Given the description of an element on the screen output the (x, y) to click on. 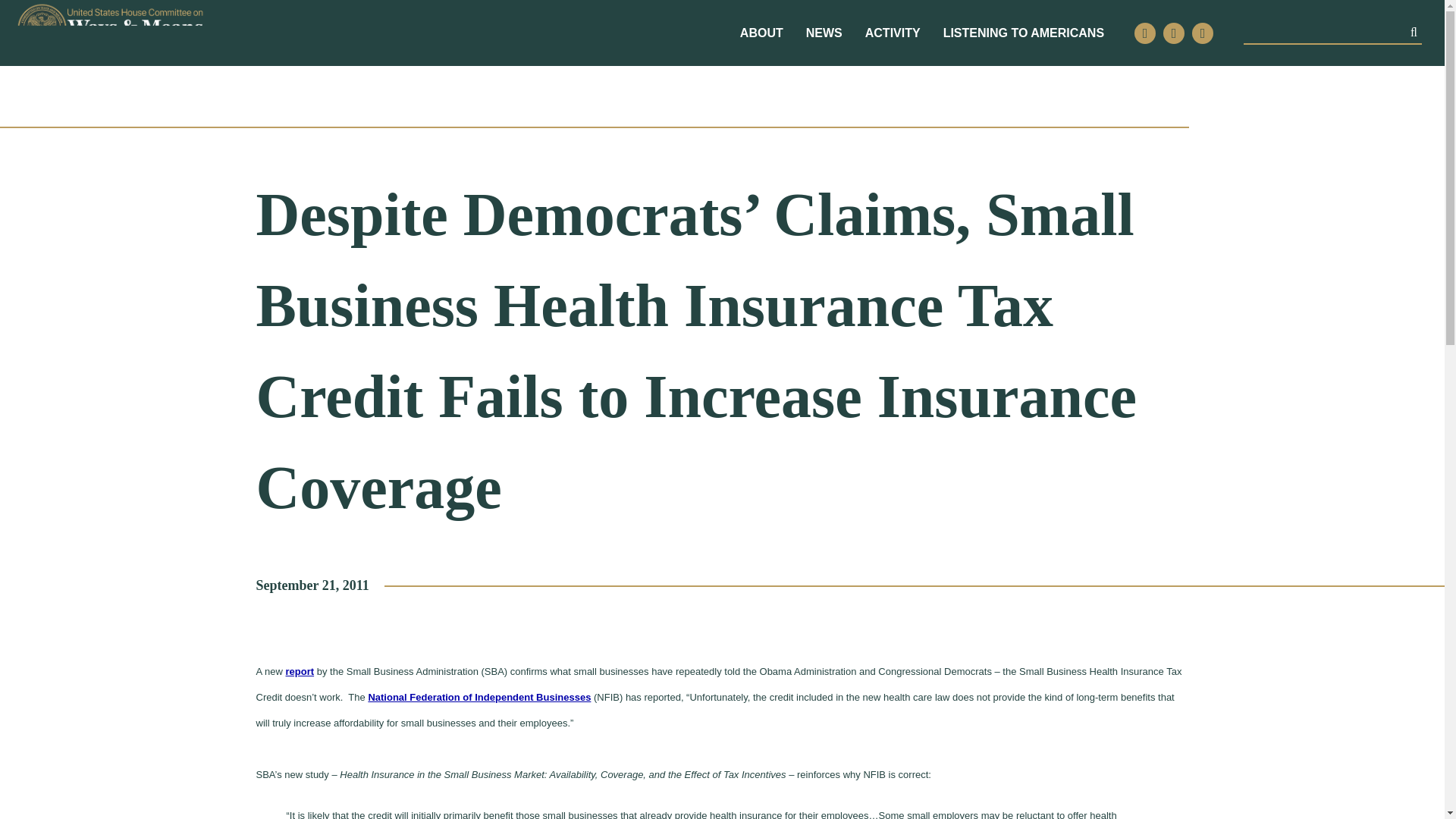
Instagram (1174, 33)
ACTIVITY (892, 33)
Twitter (1145, 33)
NEWS (824, 33)
report (299, 671)
LISTENING TO AMERICANS (1023, 33)
National Federation of Independent Businesses (479, 696)
ABOUT (761, 33)
Youtube (1202, 33)
